Given the description of an element on the screen output the (x, y) to click on. 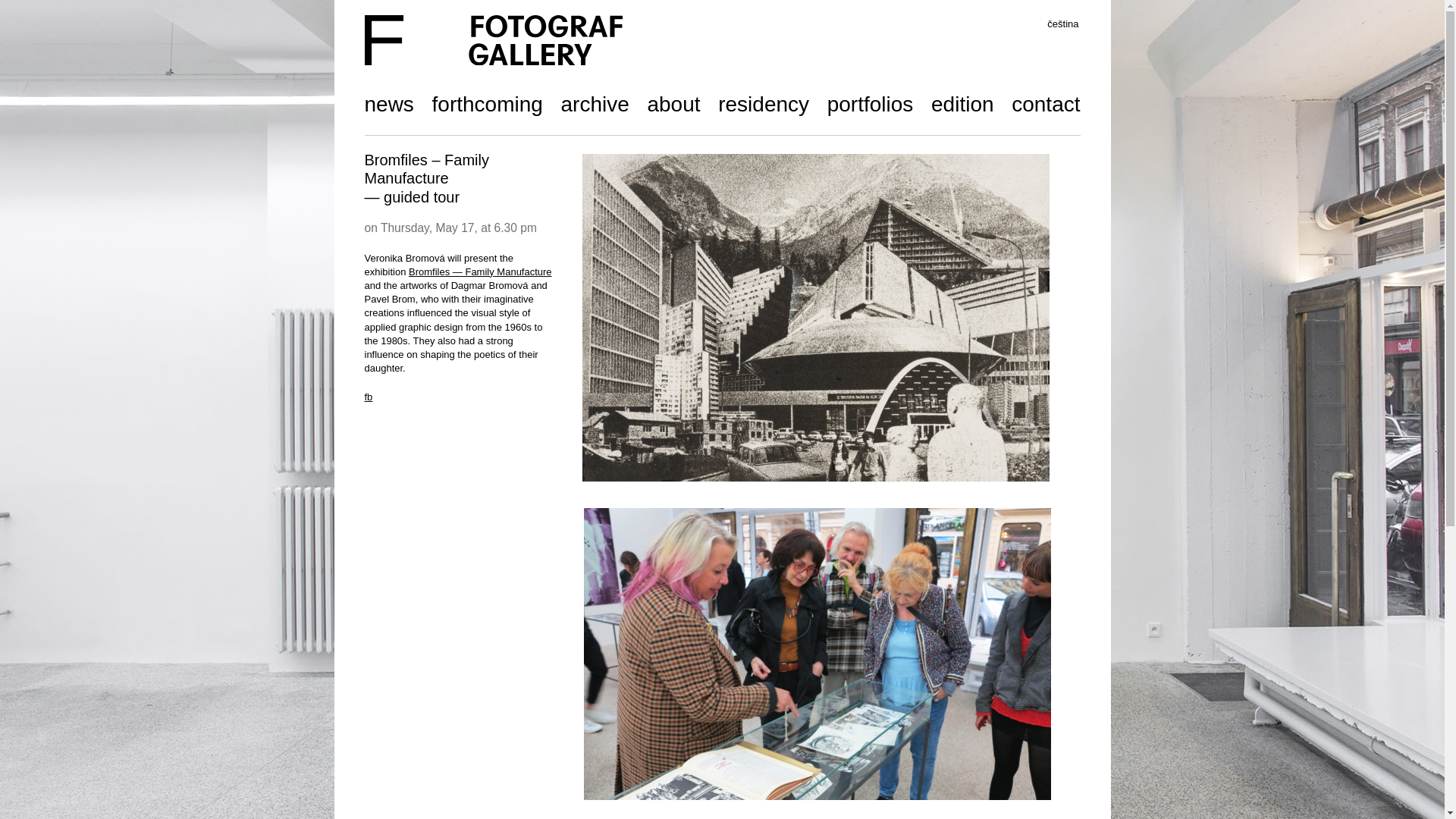
Fotograf Edition 2019 (962, 106)
Czech (1062, 23)
about (673, 106)
archive (594, 106)
Fotograf Residency (763, 106)
edition (962, 106)
residency (763, 106)
news (388, 106)
contact (1045, 106)
Next (1021, 631)
